Given the description of an element on the screen output the (x, y) to click on. 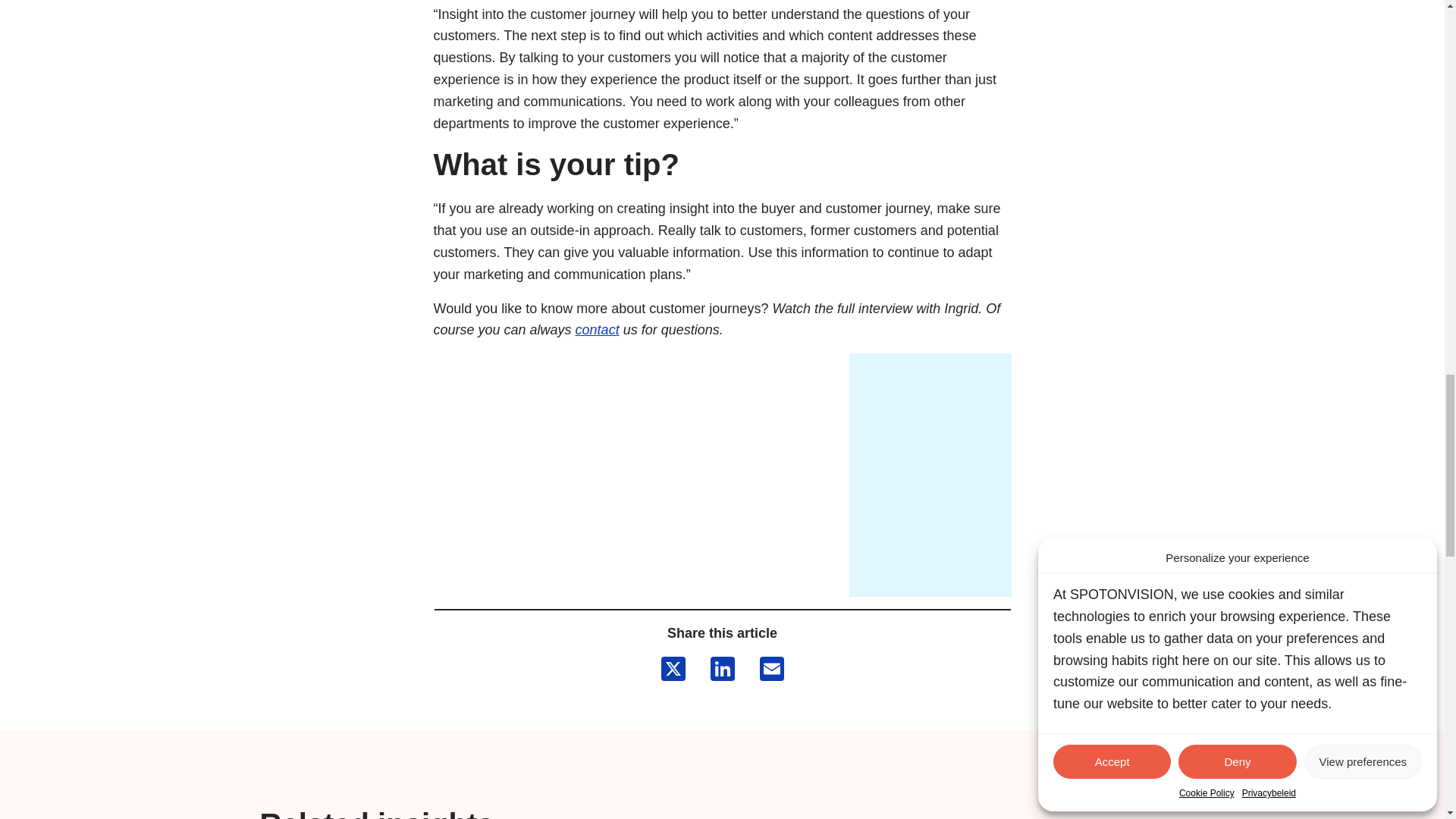
Customer Journey vs. Buyer Journey (641, 481)
Email (772, 670)
LinkedIn (721, 670)
contact (597, 329)
X (673, 670)
